Given the description of an element on the screen output the (x, y) to click on. 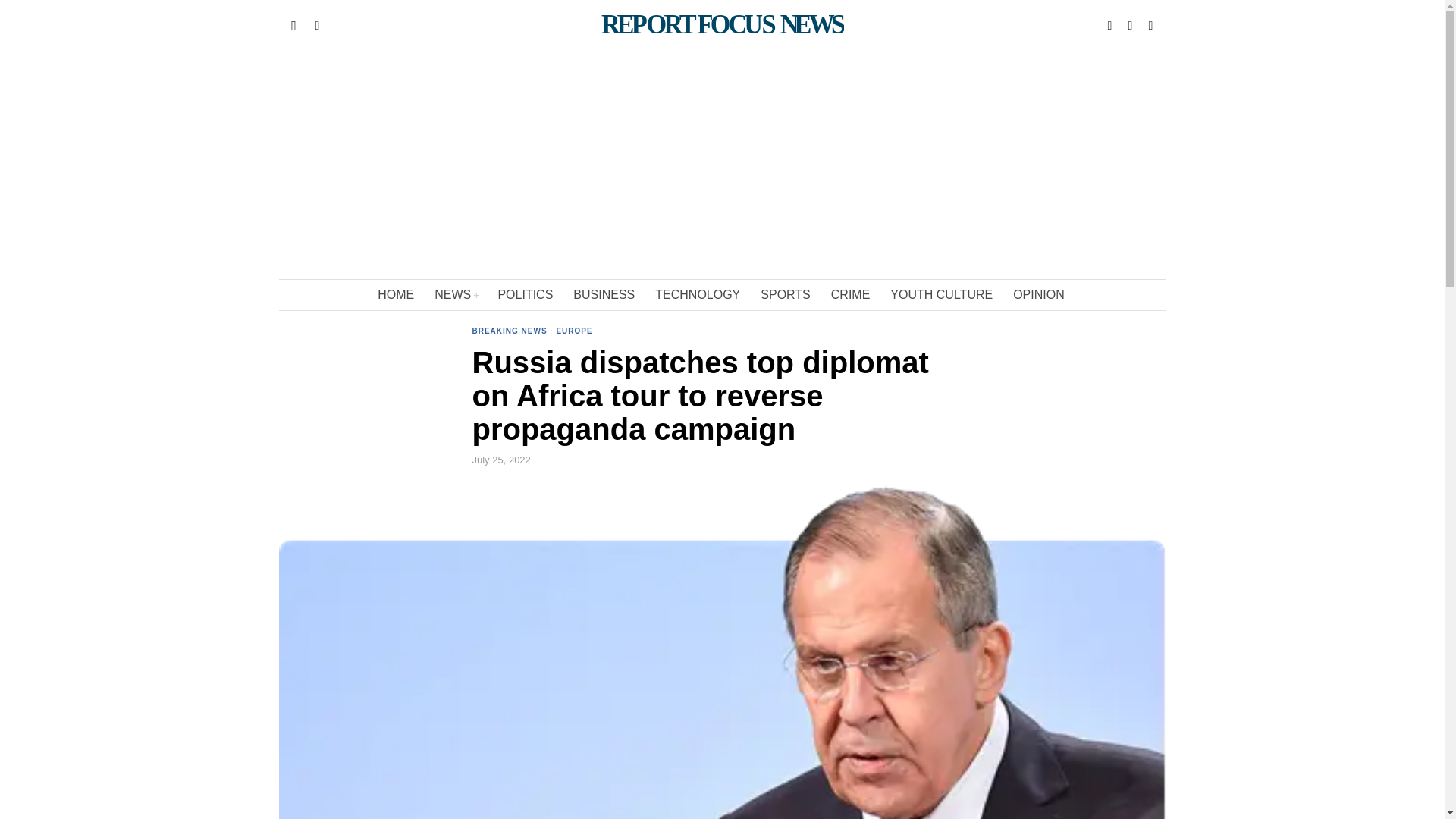
HOME (396, 295)
NEWS (456, 295)
CRIME (852, 295)
25 Jul, 2022 11:41:08 (500, 459)
TECHNOLOGY (698, 295)
SPORTS (786, 295)
EUROPE (574, 331)
OPINION (1039, 295)
BUSINESS (605, 295)
POLITICS (525, 295)
YOUTH CULTURE (942, 295)
BREAKING NEWS (509, 331)
